Given the description of an element on the screen output the (x, y) to click on. 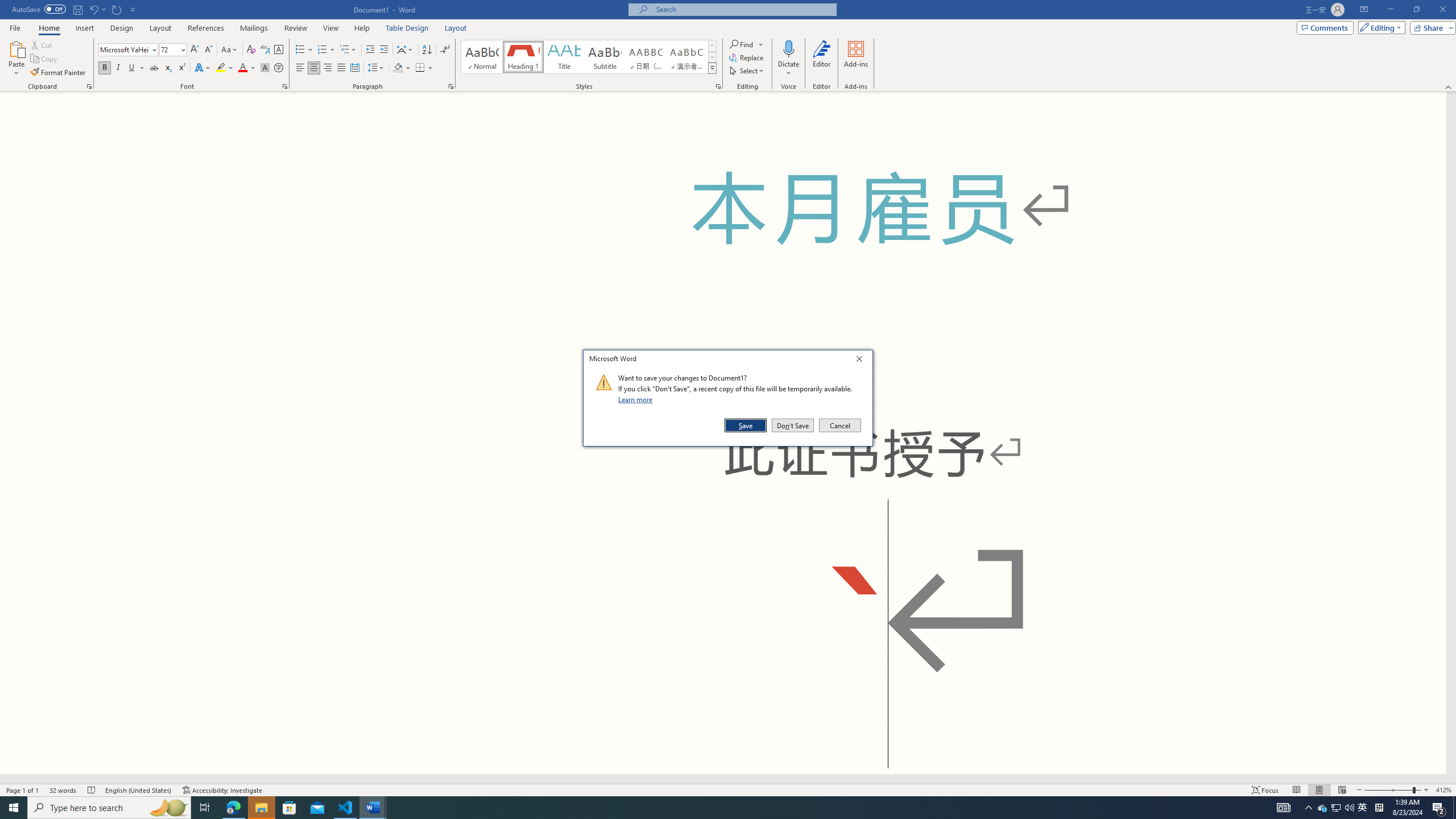
Learn more (636, 399)
Word - 2 running windows (373, 807)
Cancel (839, 425)
